Given the description of an element on the screen output the (x, y) to click on. 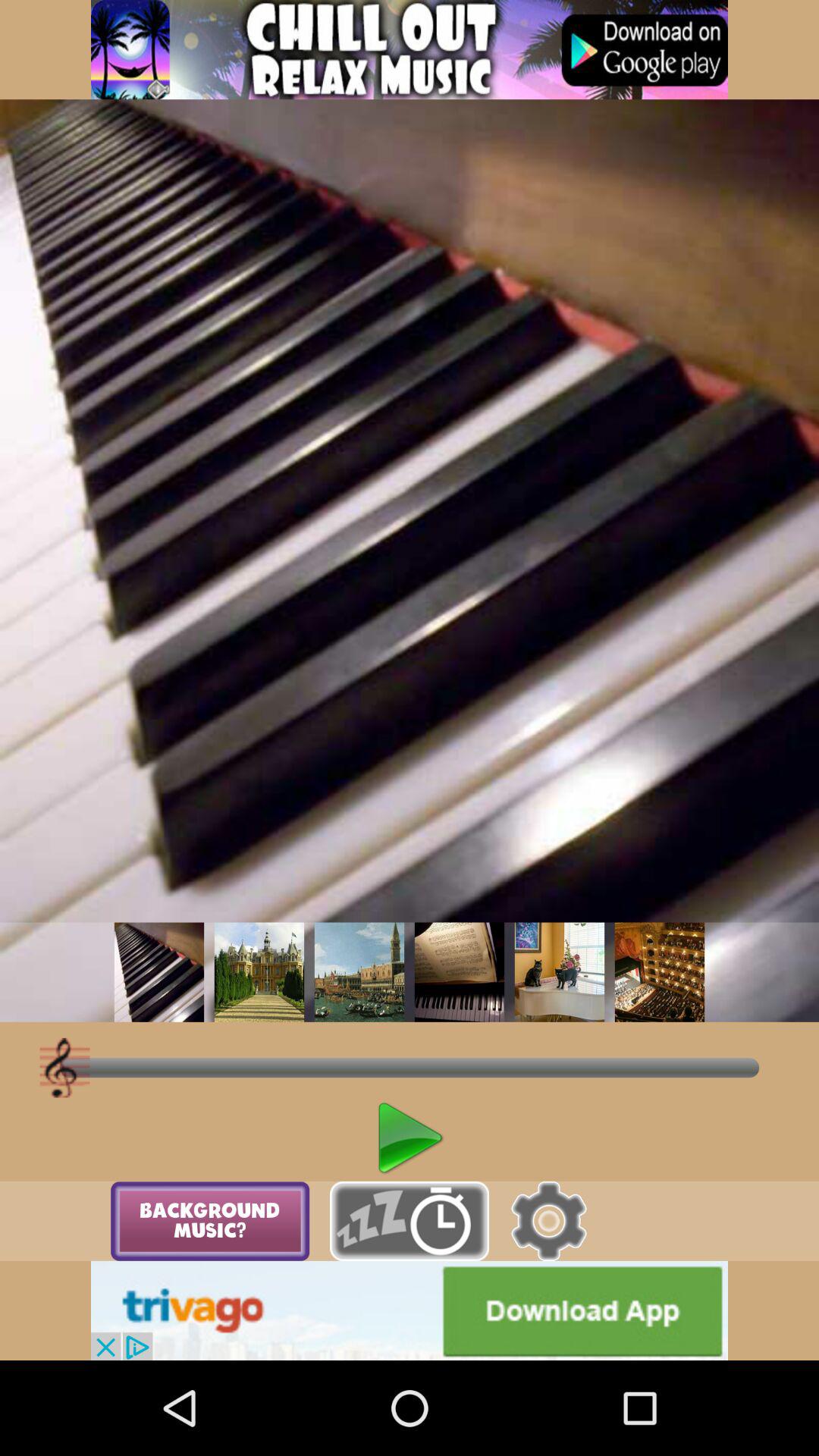
choose track (159, 972)
